Given the description of an element on the screen output the (x, y) to click on. 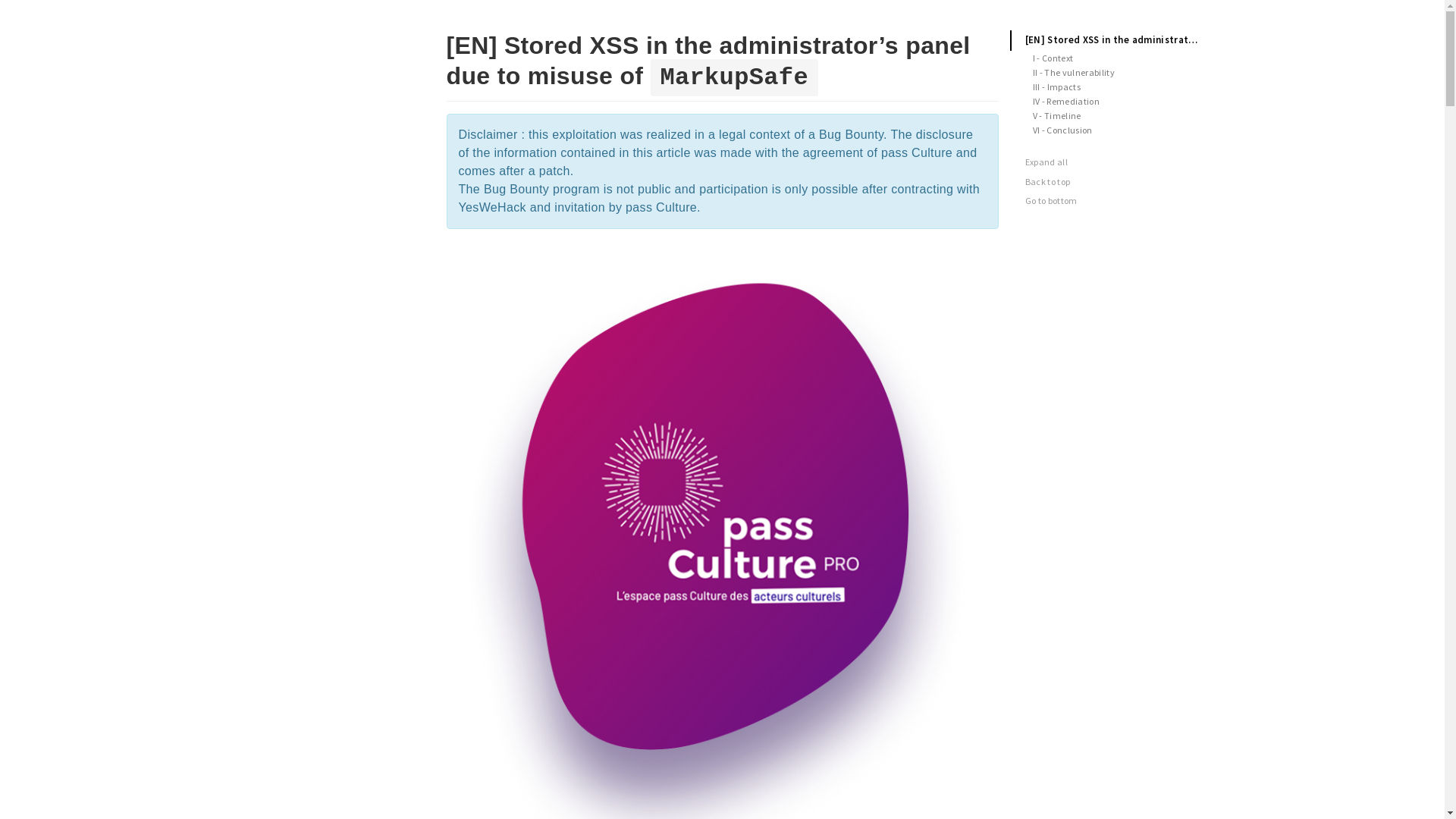
V - Timeline Element type: text (1111, 115)
I - Context Element type: text (1111, 57)
IV - Remediation Element type: text (1111, 101)
Back to top Element type: text (1115, 181)
Expand all Element type: text (1115, 161)
III - Impacts Element type: text (1111, 86)
VI - Conclusion Element type: text (1111, 129)
Go to bottom Element type: text (1115, 200)
II - The vulnerability Element type: text (1111, 72)
